Given the description of an element on the screen output the (x, y) to click on. 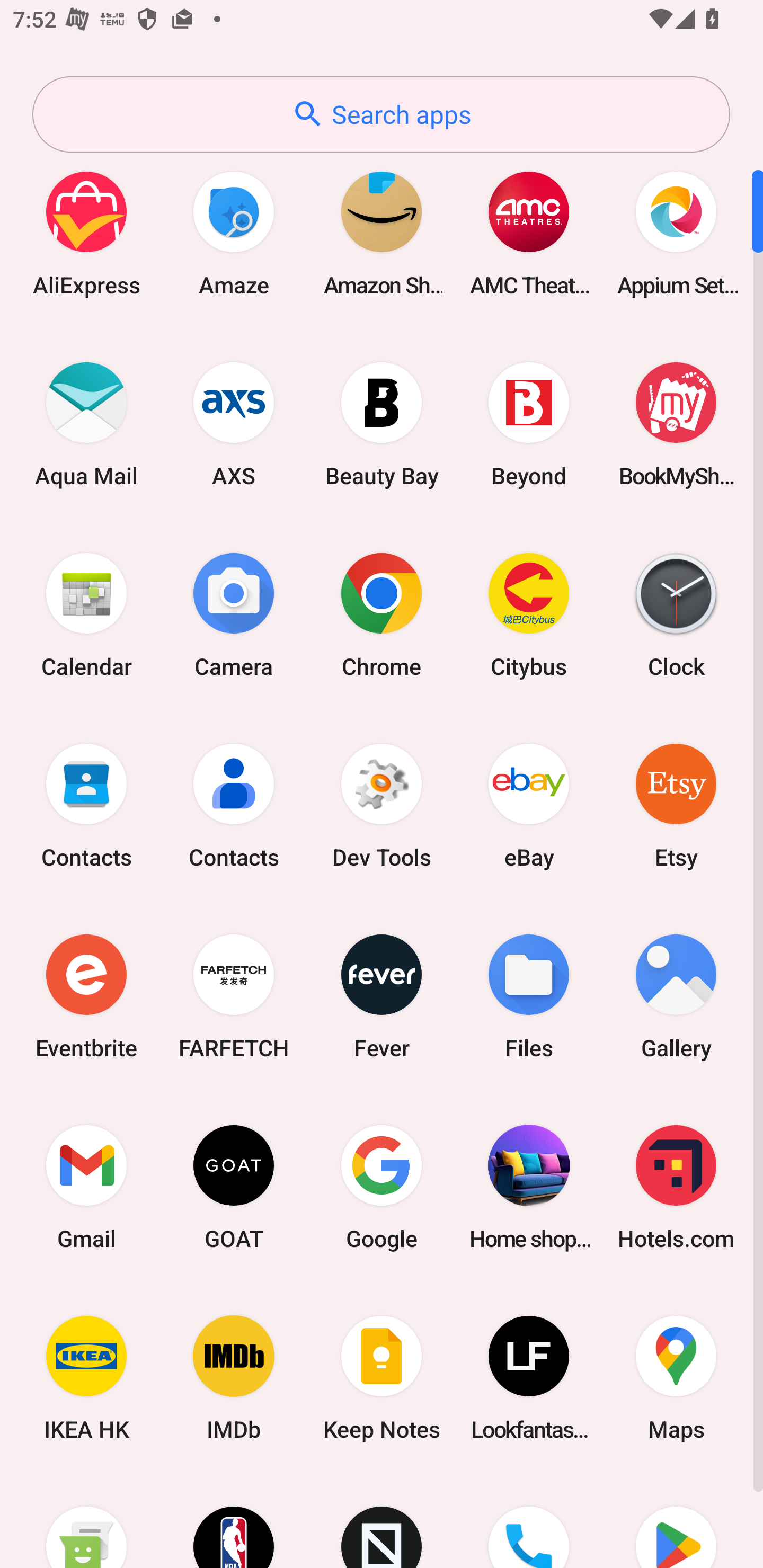
  Search apps (381, 114)
AliExpress (86, 233)
Amaze (233, 233)
Amazon Shopping (381, 233)
AMC Theatres (528, 233)
Appium Settings (676, 233)
Aqua Mail (86, 424)
AXS (233, 424)
Beauty Bay (381, 424)
Beyond (528, 424)
BookMyShow (676, 424)
Calendar (86, 614)
Camera (233, 614)
Chrome (381, 614)
Citybus (528, 614)
Clock (676, 614)
Contacts (86, 805)
Contacts (233, 805)
Dev Tools (381, 805)
eBay (528, 805)
Etsy (676, 805)
Eventbrite (86, 996)
FARFETCH (233, 996)
Fever (381, 996)
Files (528, 996)
Gallery (676, 996)
Gmail (86, 1186)
GOAT (233, 1186)
Google (381, 1186)
Home shopping (528, 1186)
Hotels.com (676, 1186)
IKEA HK (86, 1377)
IMDb (233, 1377)
Keep Notes (381, 1377)
Lookfantastic (528, 1377)
Maps (676, 1377)
Messaging (86, 1520)
NBA (233, 1520)
Novelship (381, 1520)
Phone (528, 1520)
Play Store (676, 1520)
